Given the description of an element on the screen output the (x, y) to click on. 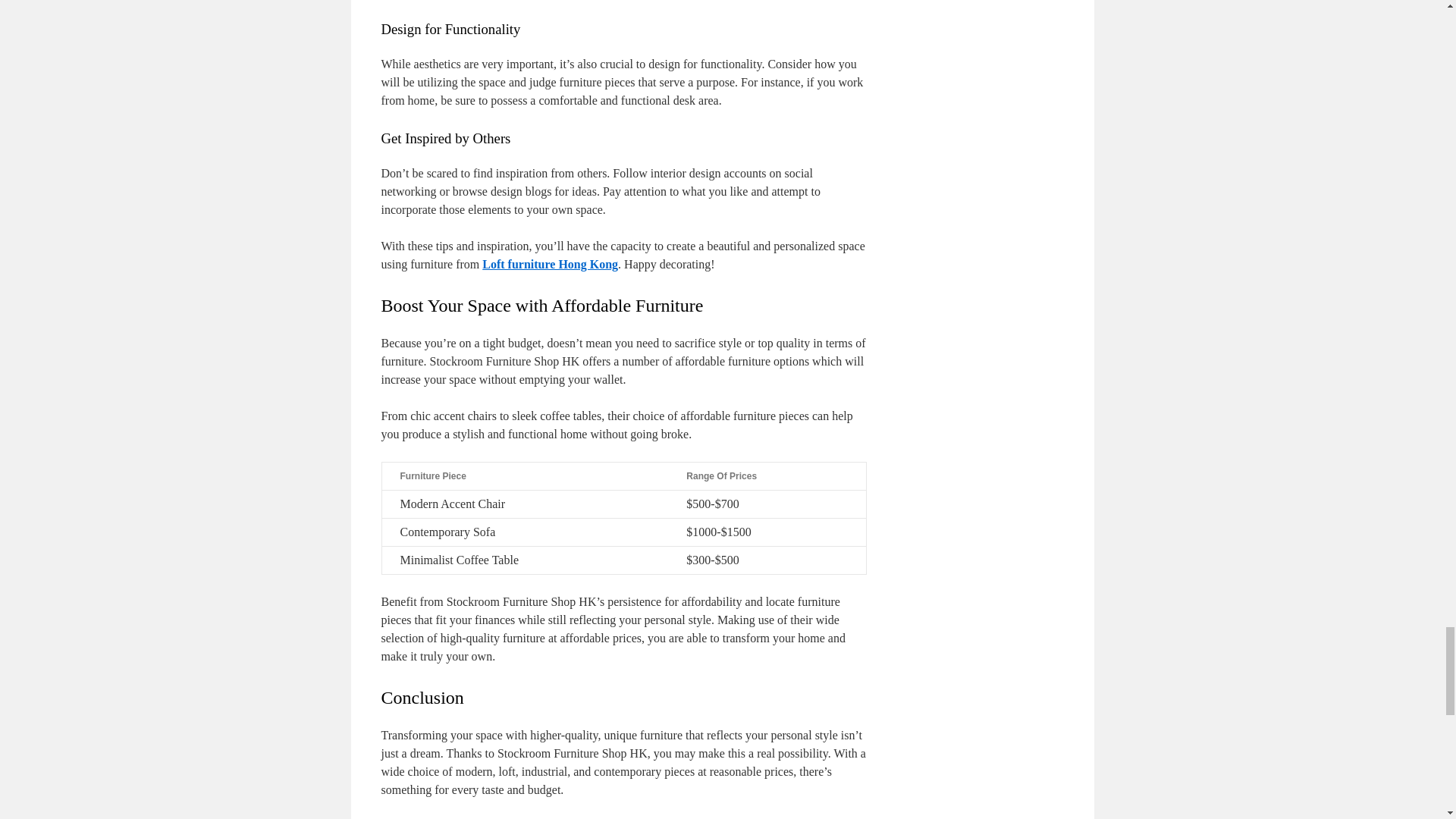
Loft furniture Hong Kong (549, 264)
